Given the description of an element on the screen output the (x, y) to click on. 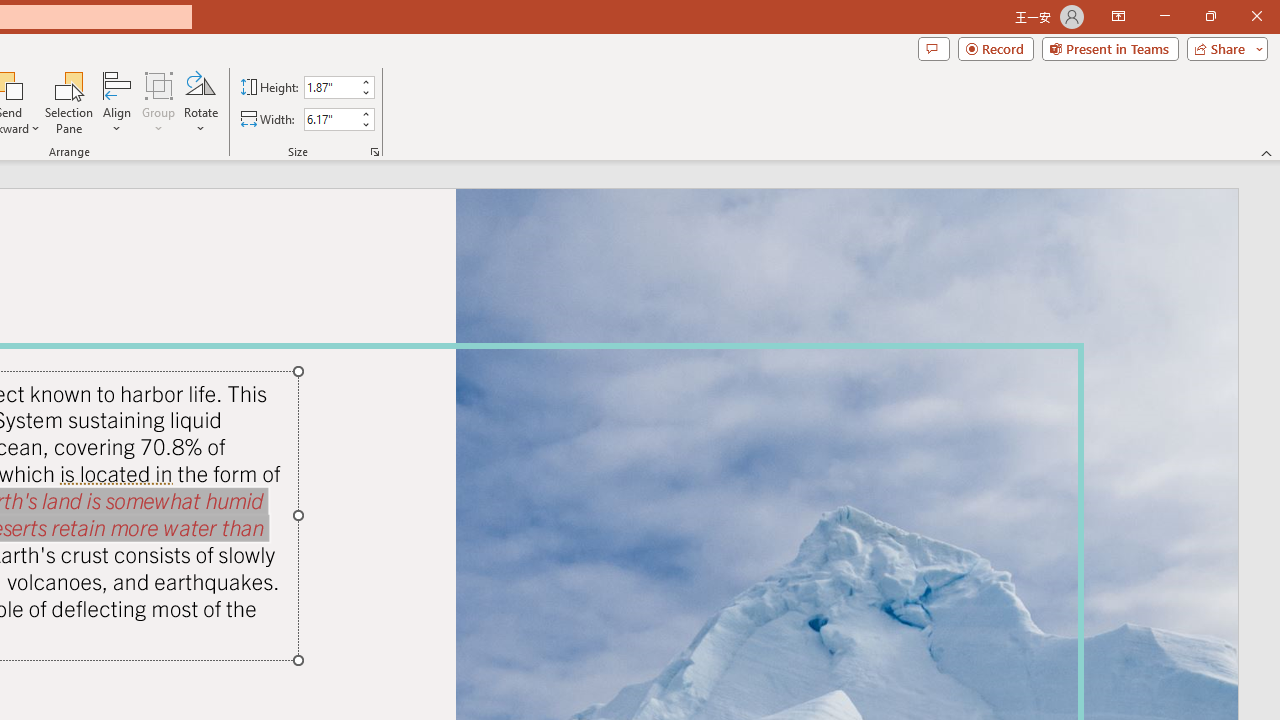
Comments (933, 48)
Rotate (200, 102)
Present in Teams (1109, 48)
More (365, 113)
